Given the description of an element on the screen output the (x, y) to click on. 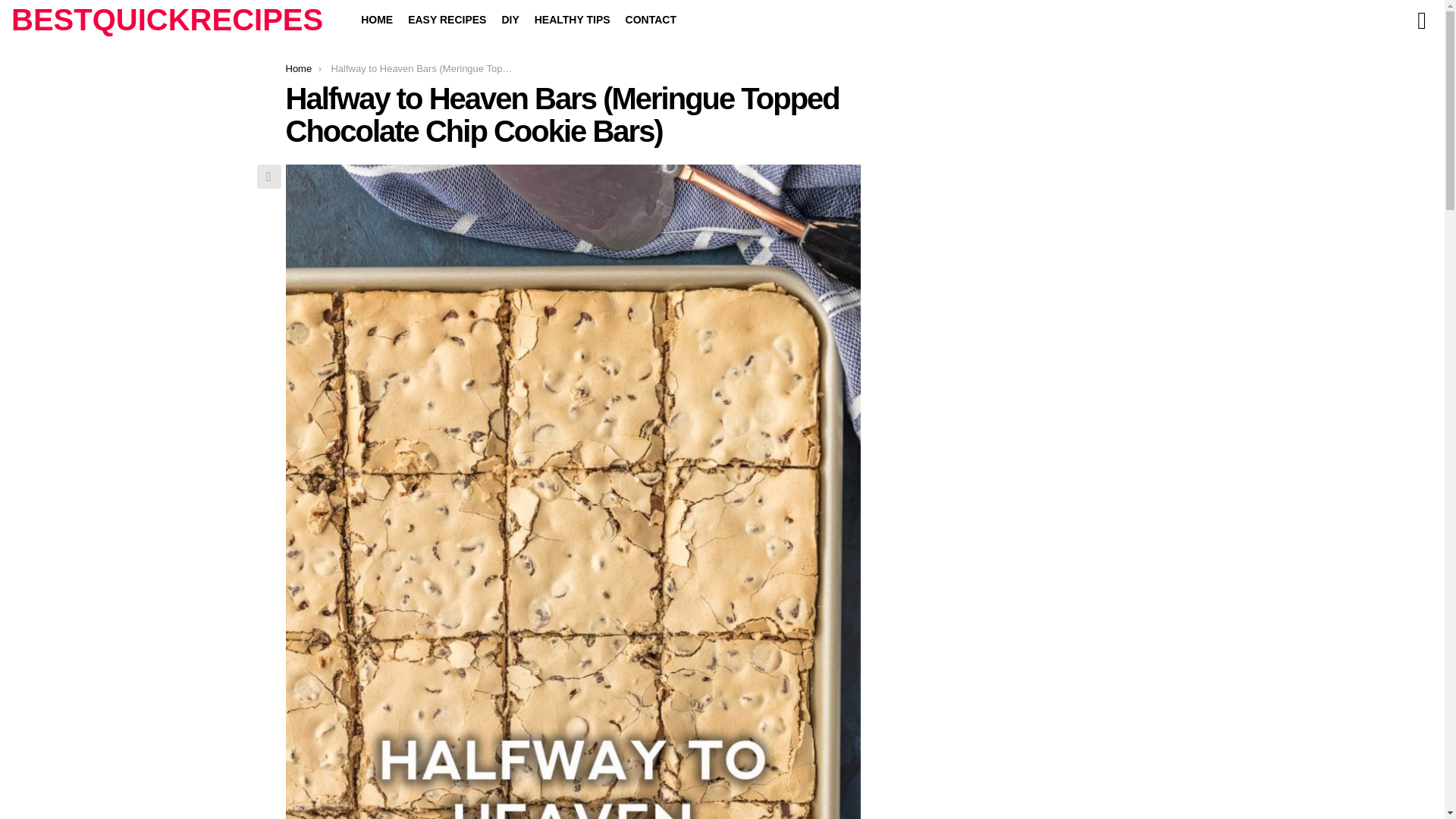
SEARCH (1421, 20)
HOME (376, 19)
EASY RECIPES (446, 19)
HEALTHY TIPS (572, 19)
CONTACT (650, 19)
Home (298, 68)
BESTQUICKRECIPES (167, 19)
